Given the description of an element on the screen output the (x, y) to click on. 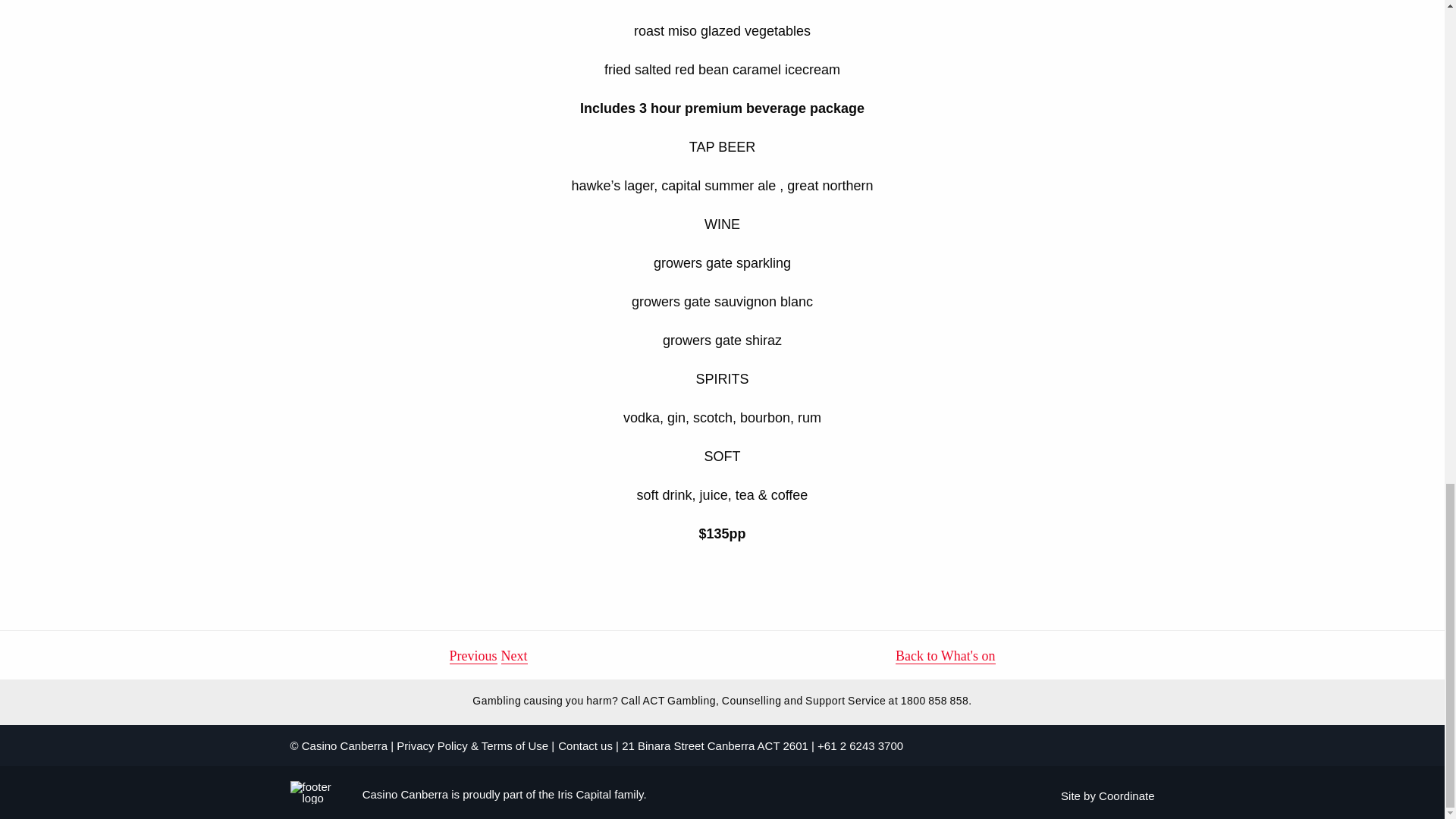
Previous (472, 656)
Back to What's on (944, 656)
Contact us (584, 745)
Privacy Policy (431, 745)
Next (513, 656)
Site by Coordinate (1107, 795)
